Given the description of an element on the screen output the (x, y) to click on. 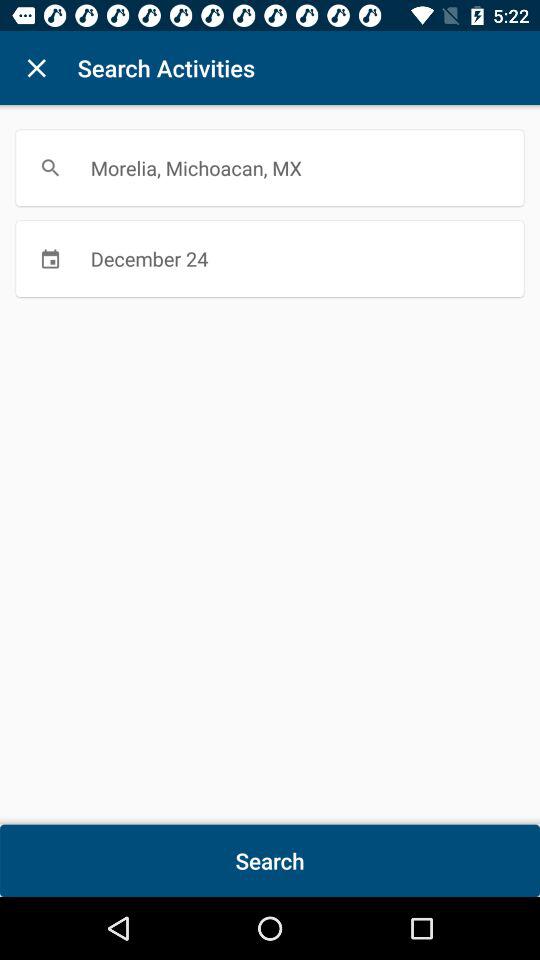
swipe until the december 24 icon (269, 258)
